Given the description of an element on the screen output the (x, y) to click on. 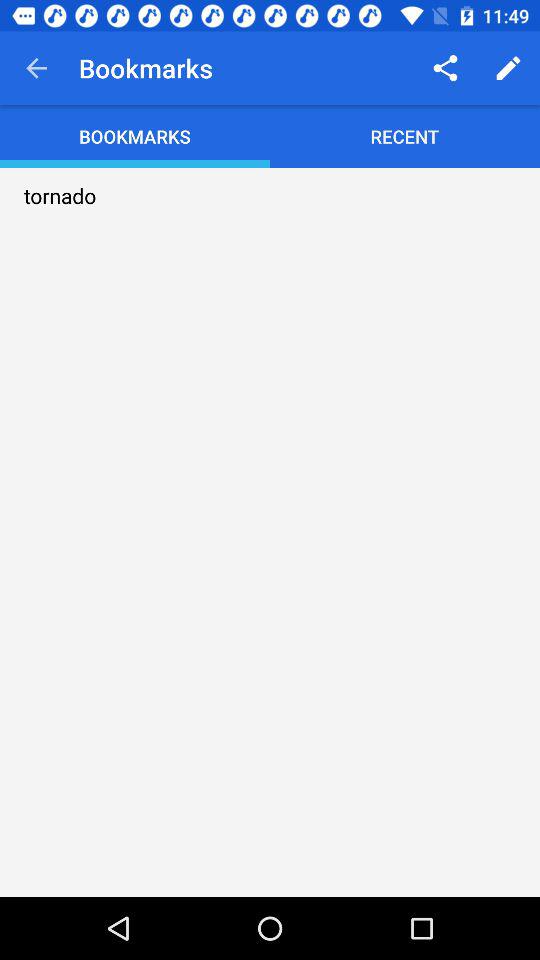
open the item above recent (444, 67)
